Given the description of an element on the screen output the (x, y) to click on. 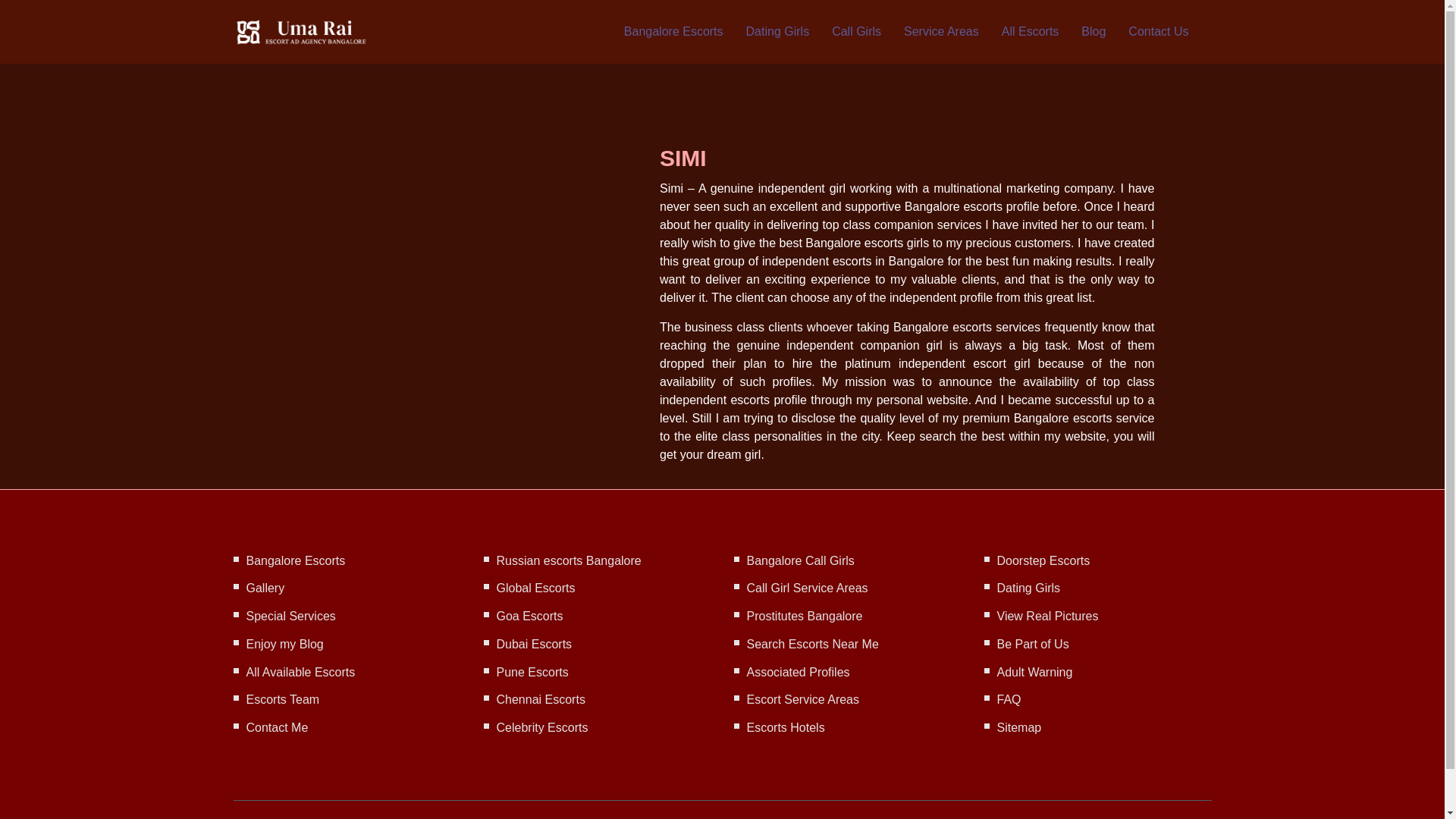
All Available Escorts (300, 671)
Blog (1093, 31)
FAQ (1007, 698)
Dating Girls (777, 31)
Blog (1093, 31)
Bangalore Escorts (673, 31)
Bangalore Escorts (673, 31)
Doorstep Escorts (1042, 559)
Dubai Escorts (534, 644)
Call Girls (855, 31)
